Given the description of an element on the screen output the (x, y) to click on. 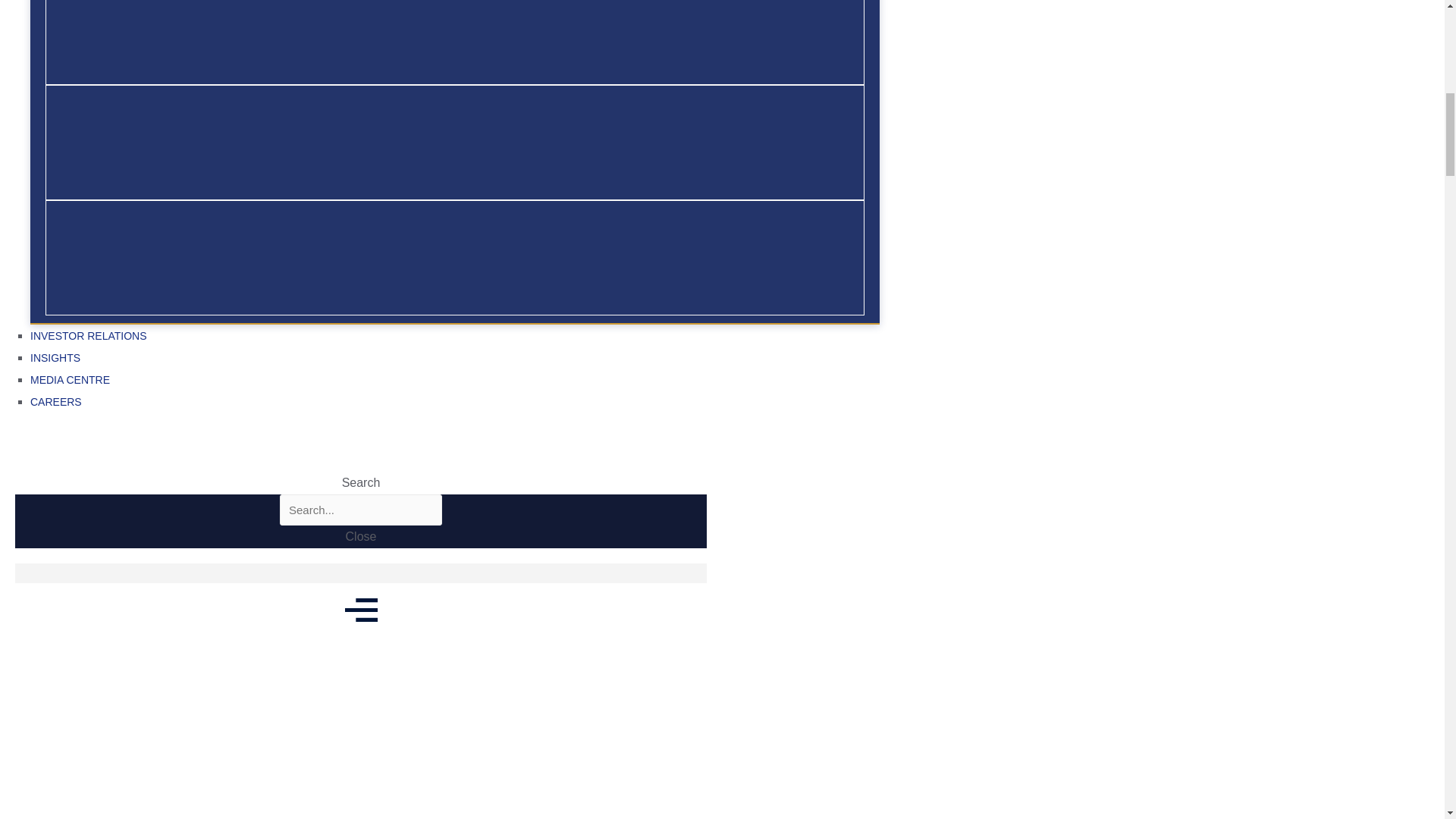
MEDIA CENTRE (454, 380)
Search (360, 510)
INVESTOR RELATIONS (454, 336)
Home (13, 698)
CAREERS (454, 402)
INSIGHTS (454, 358)
Media Library (72, 698)
